Given the description of an element on the screen output the (x, y) to click on. 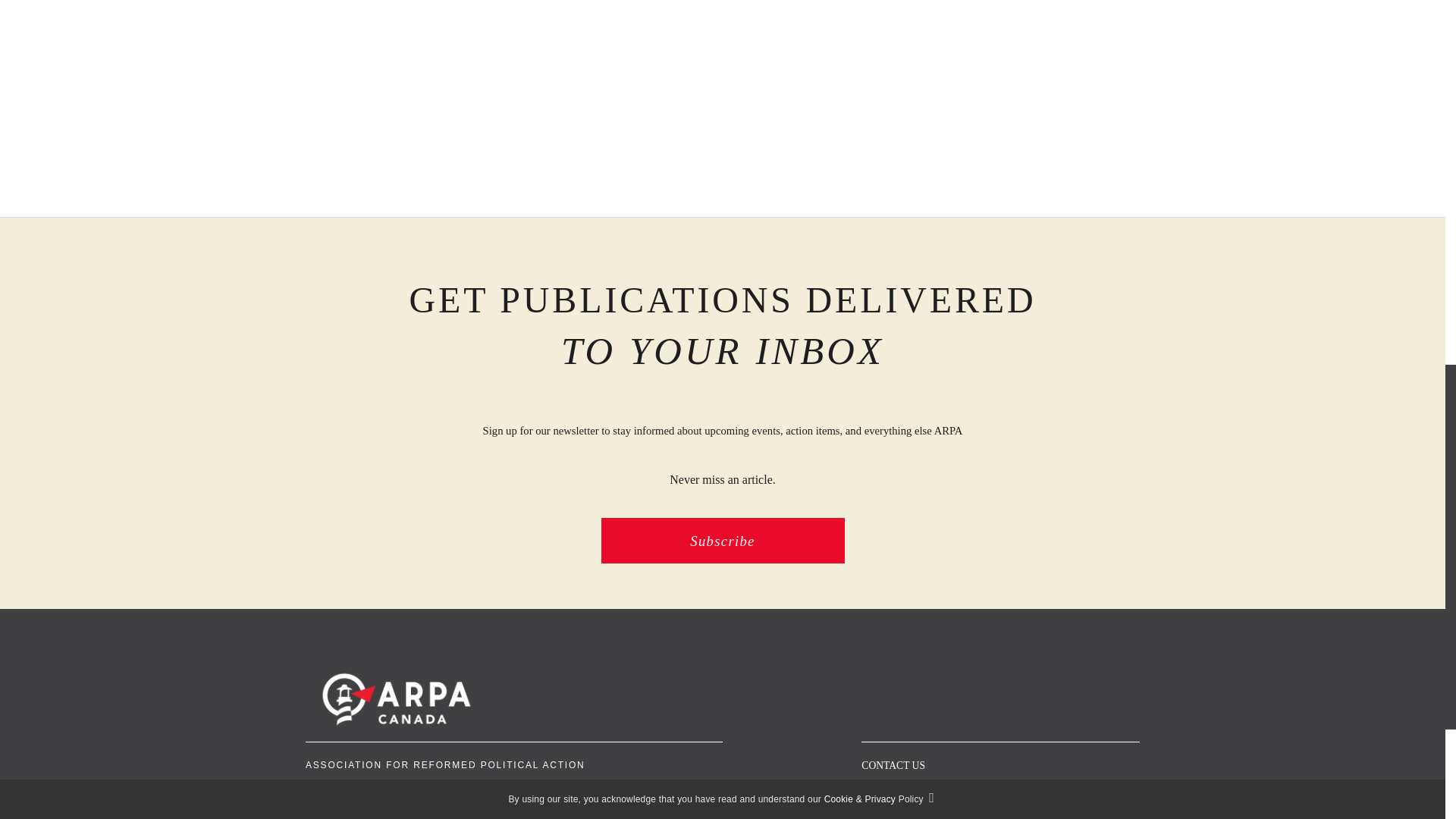
18666912772 (484, 786)
Subscribe (721, 540)
CONTACT US (892, 765)
